Given the description of an element on the screen output the (x, y) to click on. 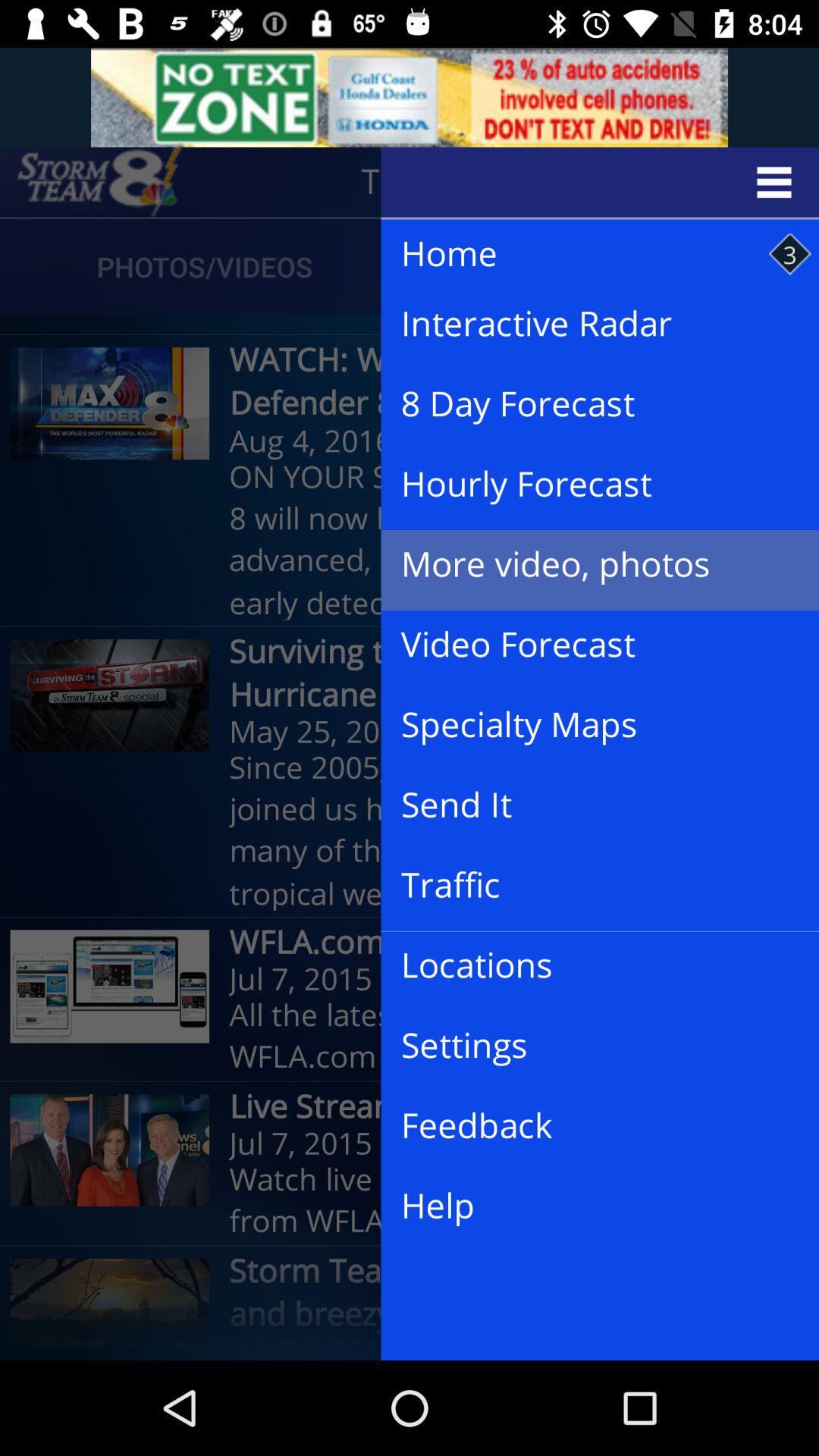
swipe to locations (587, 965)
